Given the description of an element on the screen output the (x, y) to click on. 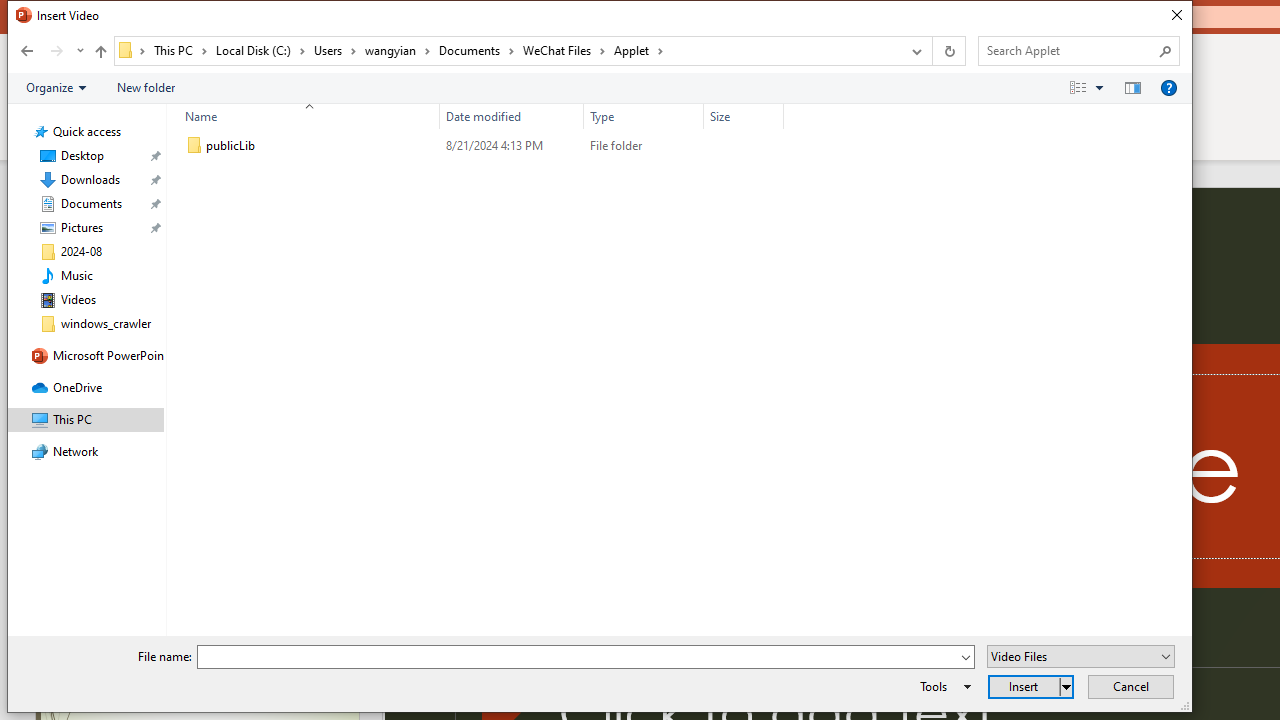
Type (643, 115)
Refresh "Applet" (F5) (948, 51)
Up to "WeChat Files" (Alt + Up Arrow) (100, 52)
New folder (145, 87)
Date modified (511, 145)
Forward (Alt + Right Arrow) (56, 51)
publicLib (480, 145)
&Help (1168, 87)
Back to WeChat Files (Alt + Left Arrow) (26, 51)
